Given the description of an element on the screen output the (x, y) to click on. 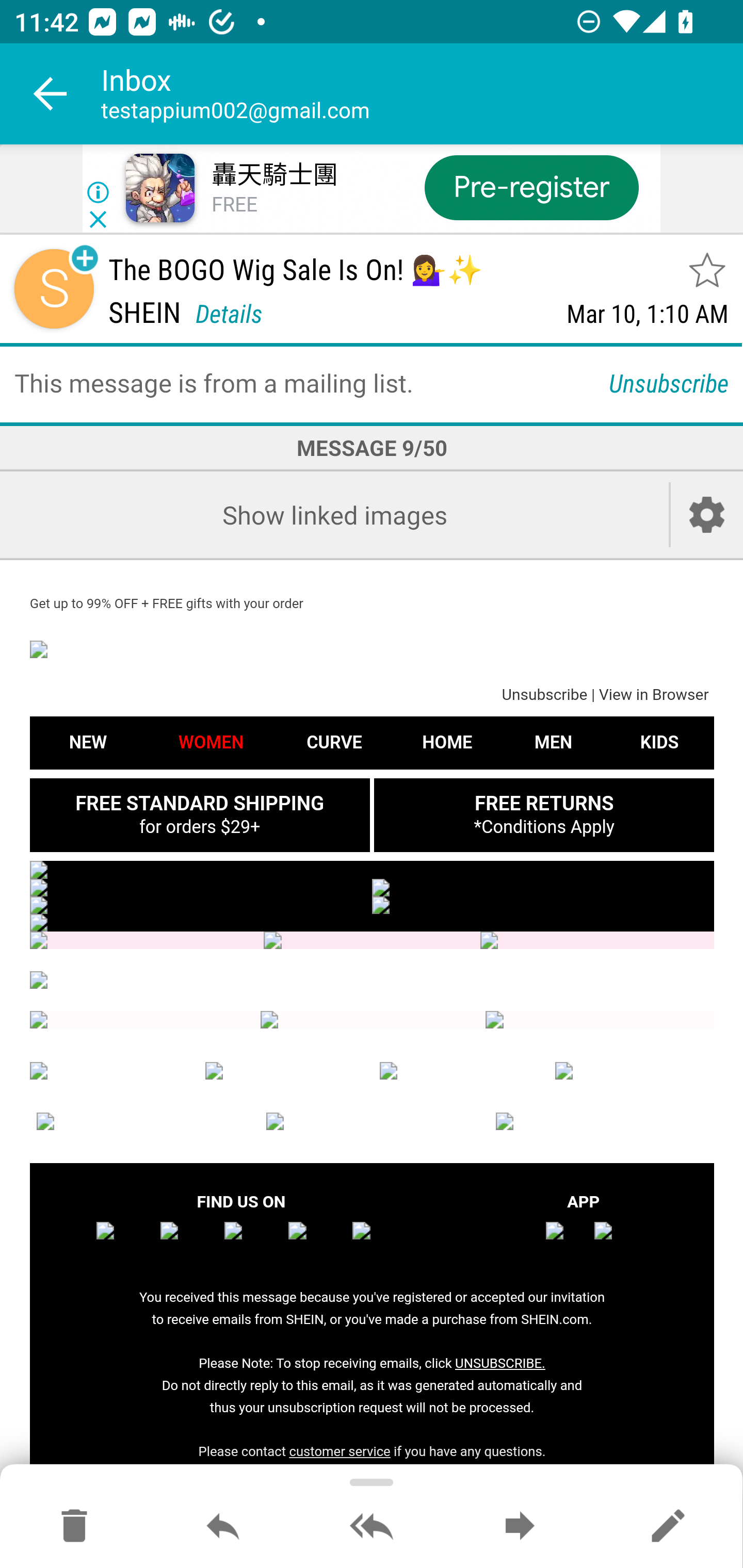
Navigate up (50, 93)
Inbox testappium002@gmail.com (422, 93)
Pre-register (530, 187)
轟天騎士團 (274, 175)
Sender contact button (53, 289)
Unsubscribe (668, 382)
Show linked images (334, 514)
Account setup (706, 514)
Get up to 99% OFF + FREE gifts with your order (166, 603)
SHEIN (371, 648)
Unsubscribe (544, 695)
View in Browser (653, 695)
NEW (88, 742)
WOMEN (210, 742)
CURVE (333, 742)
HOME (446, 742)
MEN (553, 742)
KIDS (659, 742)
FREE STANDARD SHIPPING (199, 802)
FREE RETURNS (543, 802)
for orders $29+ (199, 826)
*Conditions Apply (544, 826)
SHOP THE SALE (371, 869)
SHOP NOW (200, 887)
SHOP NOW (543, 887)
SHOP NOW (200, 905)
SHOP NOW (543, 905)
SHOP WIGS, GET GIFTS (371, 923)
Shop By Wig Type (146, 941)
Shop By Wig Type (371, 941)
Shop By Wig Type (596, 941)
JOIN THE COMMUNITY (371, 980)
Find Us On Social (144, 1020)
Find Us On Social (373, 1020)
Find Us On Social (598, 1020)
WOMEN (108, 1070)
CURVE (284, 1070)
MEN (458, 1070)
KIDS (634, 1070)
SHEIN CLUB (142, 1121)
CONTACT PREFERENCES (371, 1121)
SHEIN E-GIFT CARD (601, 1121)
facebook (125, 1242)
instagram (188, 1242)
twitter (253, 1242)
youtube (316, 1242)
pinterest (380, 1242)
apple (566, 1242)
google (615, 1242)
UNSUBSCRIBE. UNSUBSCRIBE . (499, 1363)
customer service (340, 1451)
Move to Deleted (74, 1527)
Reply (222, 1527)
Reply all (371, 1527)
Forward (519, 1527)
Reply as new (667, 1527)
